Given the description of an element on the screen output the (x, y) to click on. 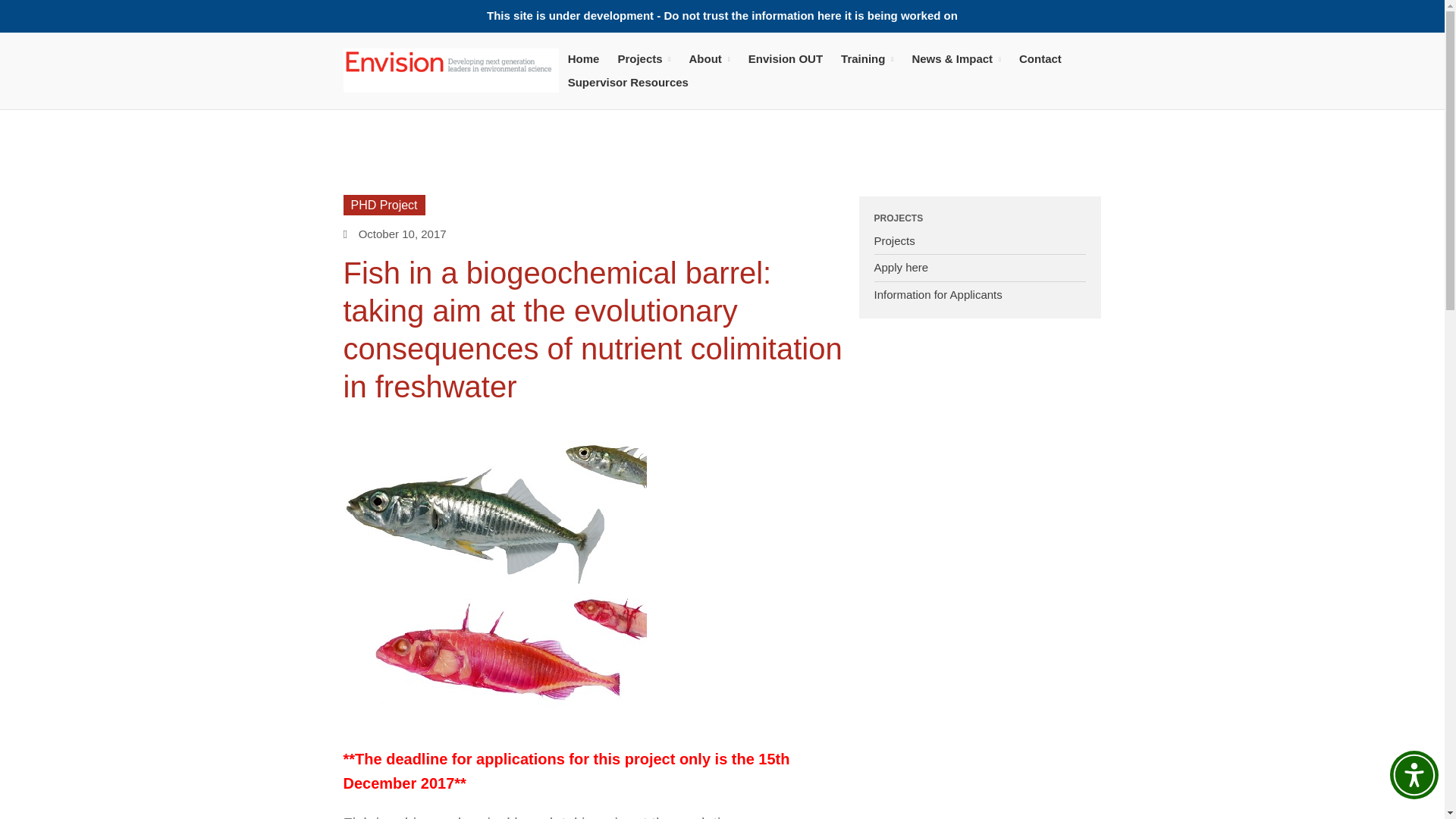
Accessibility Menu (1414, 775)
Home (583, 57)
About (709, 58)
Projects (644, 58)
